Given the description of an element on the screen output the (x, y) to click on. 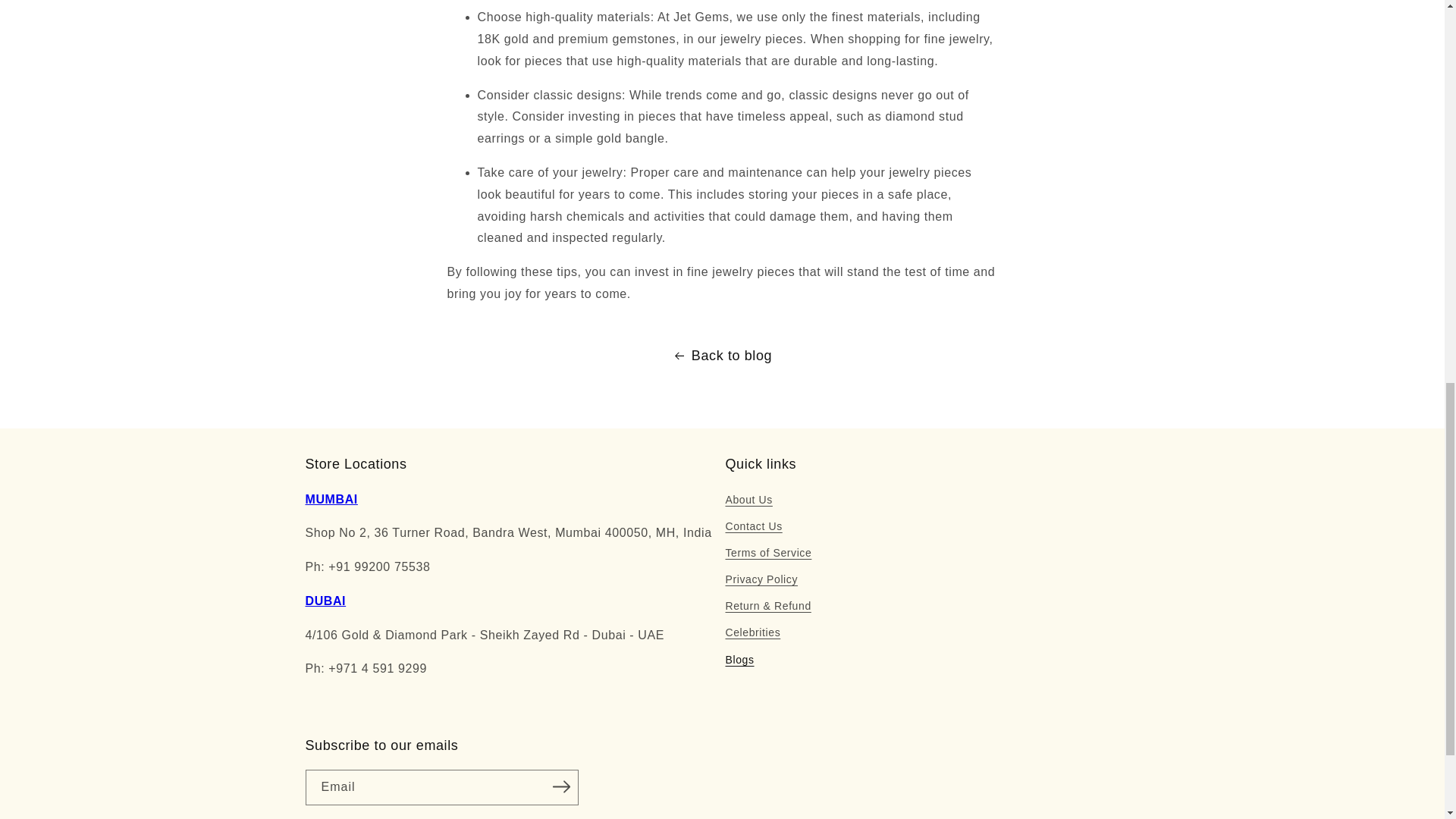
Terms of Service (767, 552)
DUBAI (325, 600)
MUMBAI (330, 499)
Jet Gems Fine Jewellery Mumbai Location (330, 499)
Jet Gems Fine Jewellery Location Dubai UAE (325, 600)
About Us (748, 500)
Contact Us (753, 526)
